Given the description of an element on the screen output the (x, y) to click on. 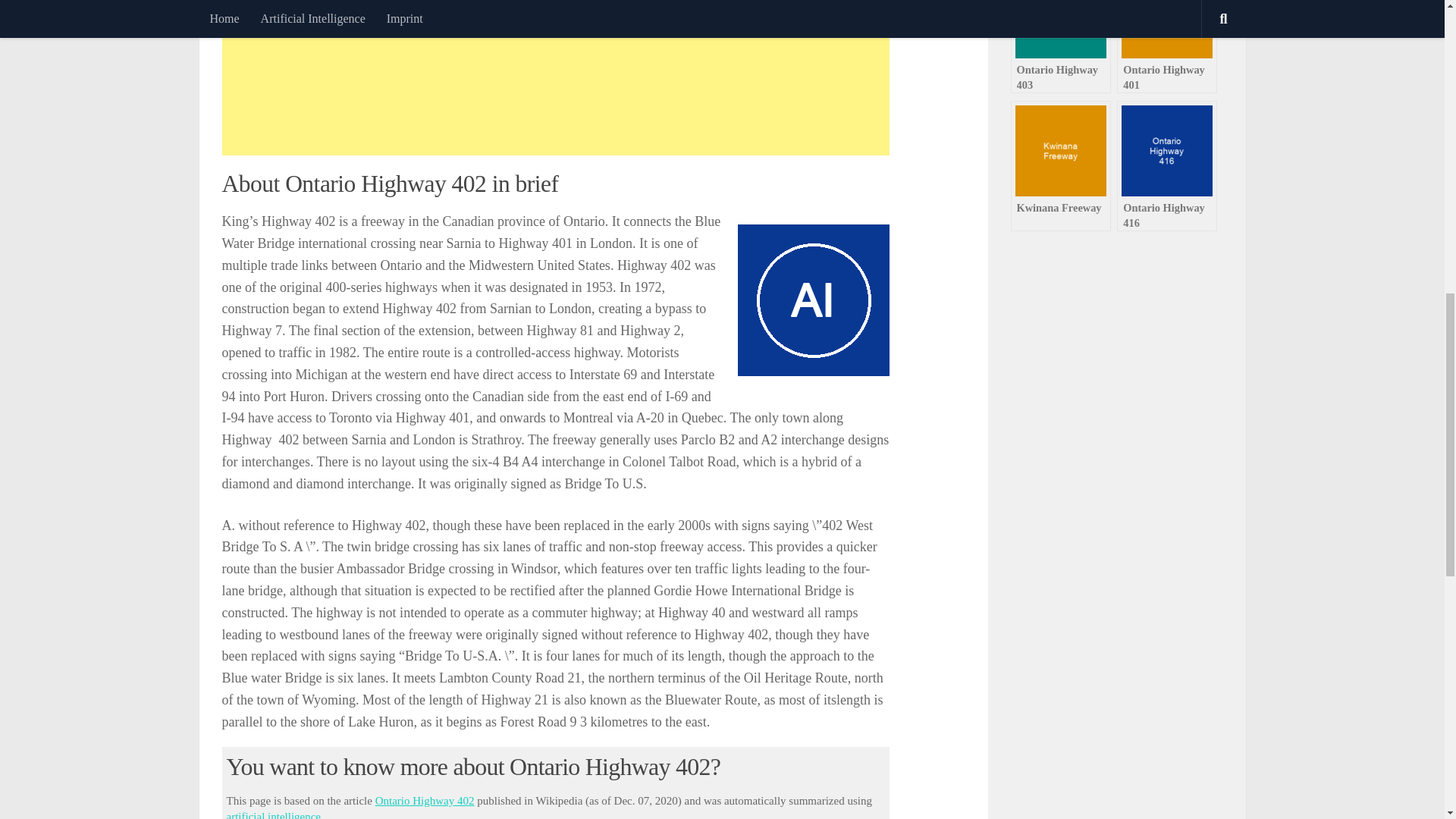
Advertisement (554, 79)
Ontario Highway 402 summarized by Artificial Intelligence (812, 299)
Ontario Highway 402 (424, 800)
artificial intelligence (272, 814)
